Given the description of an element on the screen output the (x, y) to click on. 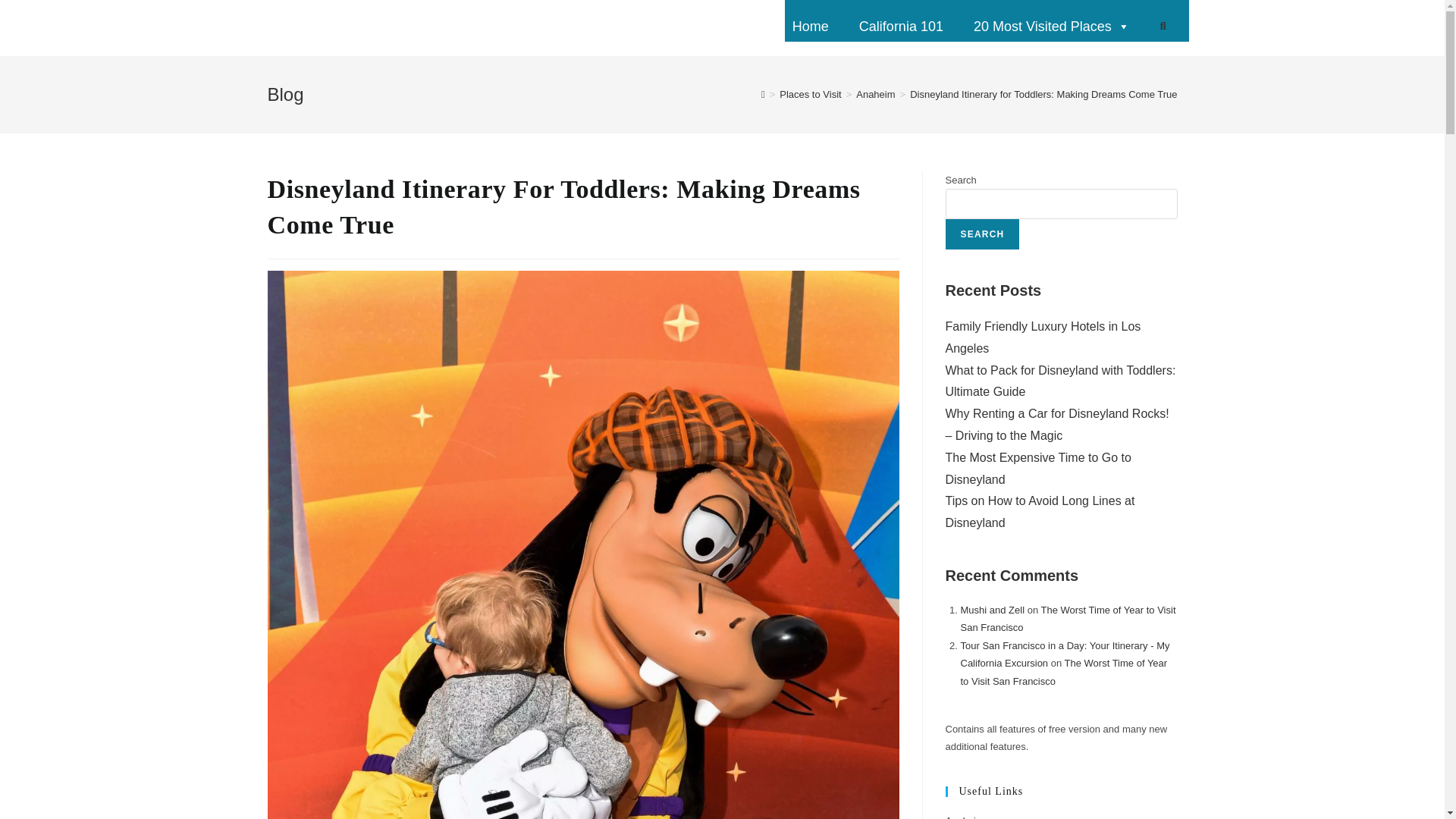
20 Most Visited Places (1051, 26)
My California Excursion (362, 27)
Home (809, 26)
California 101 (900, 26)
